Given the description of an element on the screen output the (x, y) to click on. 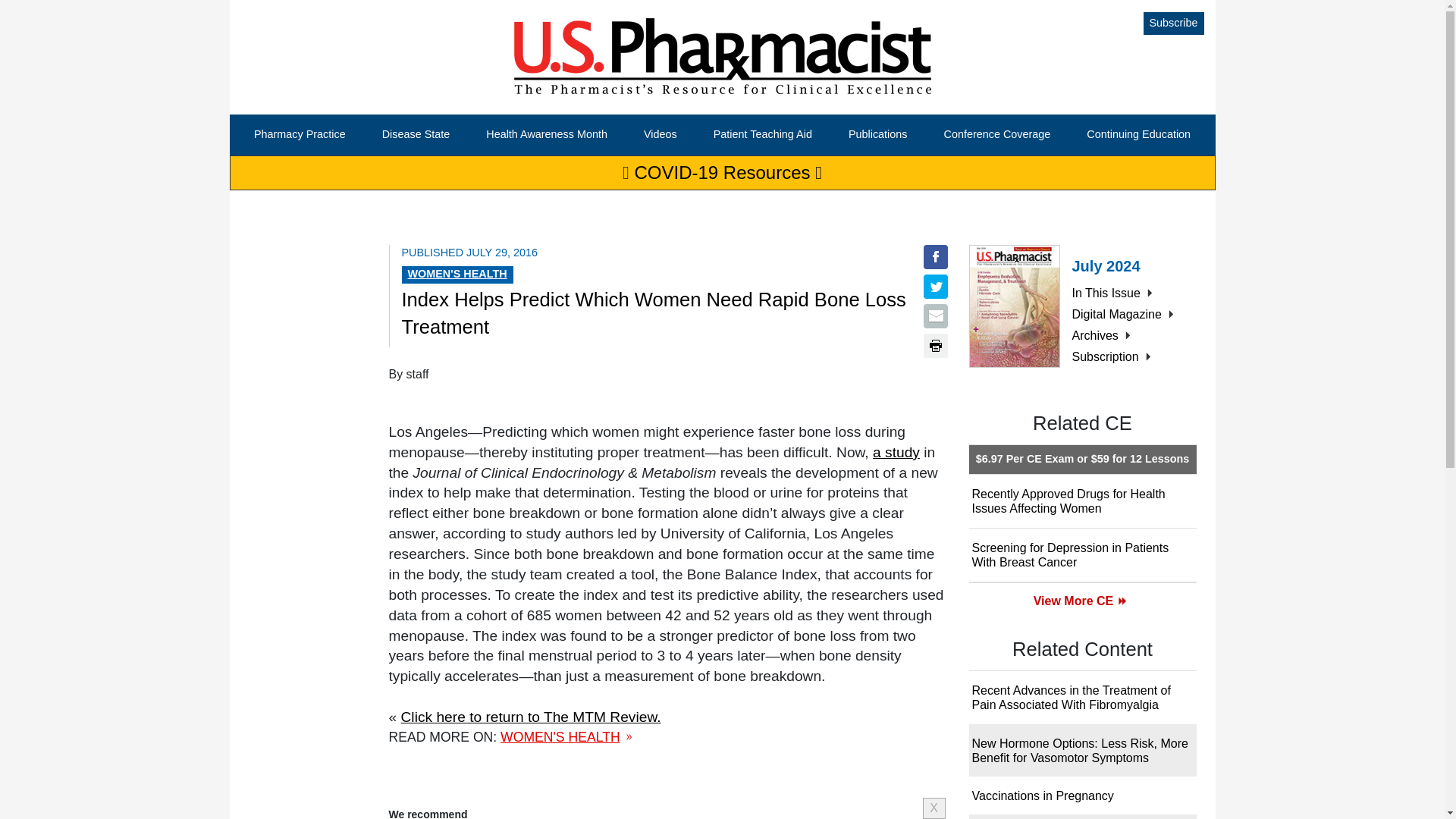
Pharmacy Practice (299, 134)
Subscribe (1173, 23)
Disease State (416, 134)
